Given the description of an element on the screen output the (x, y) to click on. 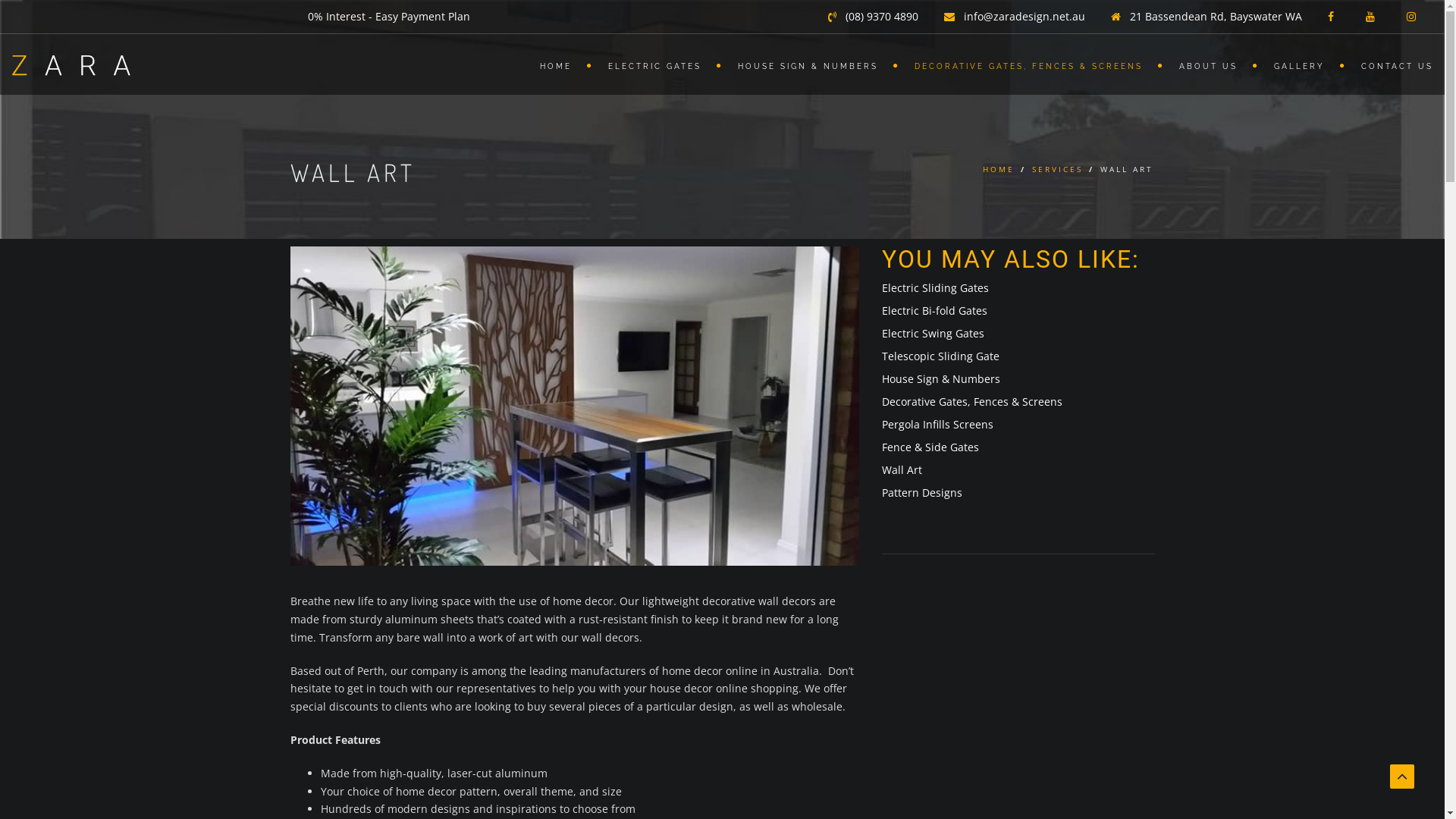
Fence & Side Gates Element type: text (929, 446)
Pattern Designs Element type: text (921, 492)
CONTACT US Element type: text (1389, 64)
Electric Bi-fold Gates Element type: text (933, 310)
ABOUT US Element type: text (1211, 64)
HOME Element type: text (998, 168)
21 Bassendean Rd, Bayswater WA Element type: text (1206, 16)
Decorative Gates, Fences & Screens Element type: text (971, 401)
Pergola Infills Screens Element type: text (936, 424)
(08) 9370 4890 Element type: text (872, 16)
DECORATIVE GATES, FENCES & SCREENS Element type: text (1031, 64)
HOUSE SIGN & NUMBERS Element type: text (810, 64)
info@zaradesign.net.au Element type: text (1014, 16)
Telescopic Sliding Gate Element type: text (939, 355)
Electric Sliding Gates Element type: text (934, 287)
HOME Element type: text (558, 64)
ELECTRIC GATES Element type: text (657, 64)
SERVICES Element type: text (1056, 168)
Wall Art Element type: text (901, 469)
Electric Swing Gates Element type: text (932, 333)
House Sign & Numbers Element type: text (940, 378)
GALLERY Element type: text (1302, 64)
Wall art by Zara Element type: hover (573, 405)
